Given the description of an element on the screen output the (x, y) to click on. 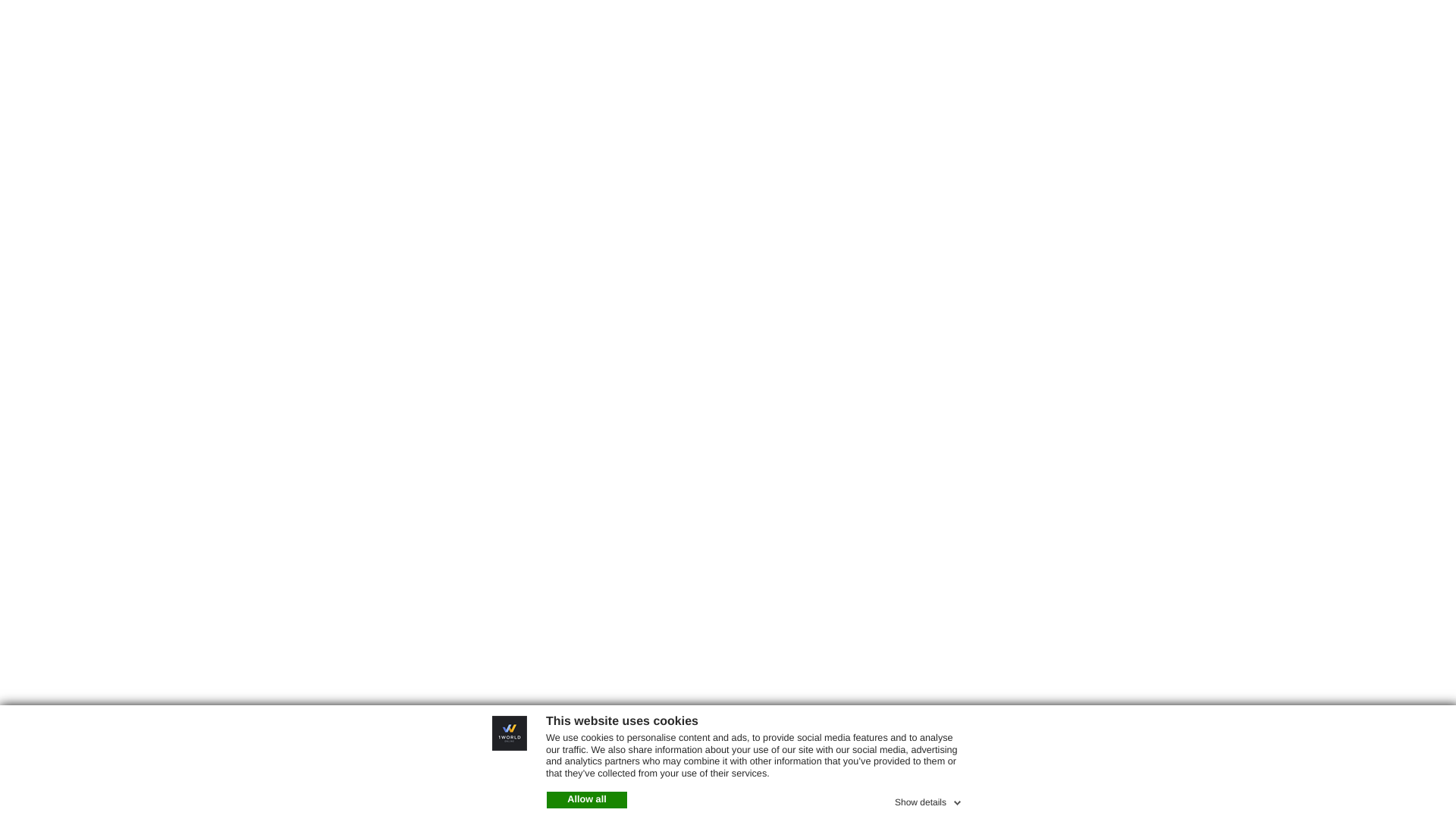
Allow all Element type: text (586, 799)
Show details Element type: text (929, 799)
